Given the description of an element on the screen output the (x, y) to click on. 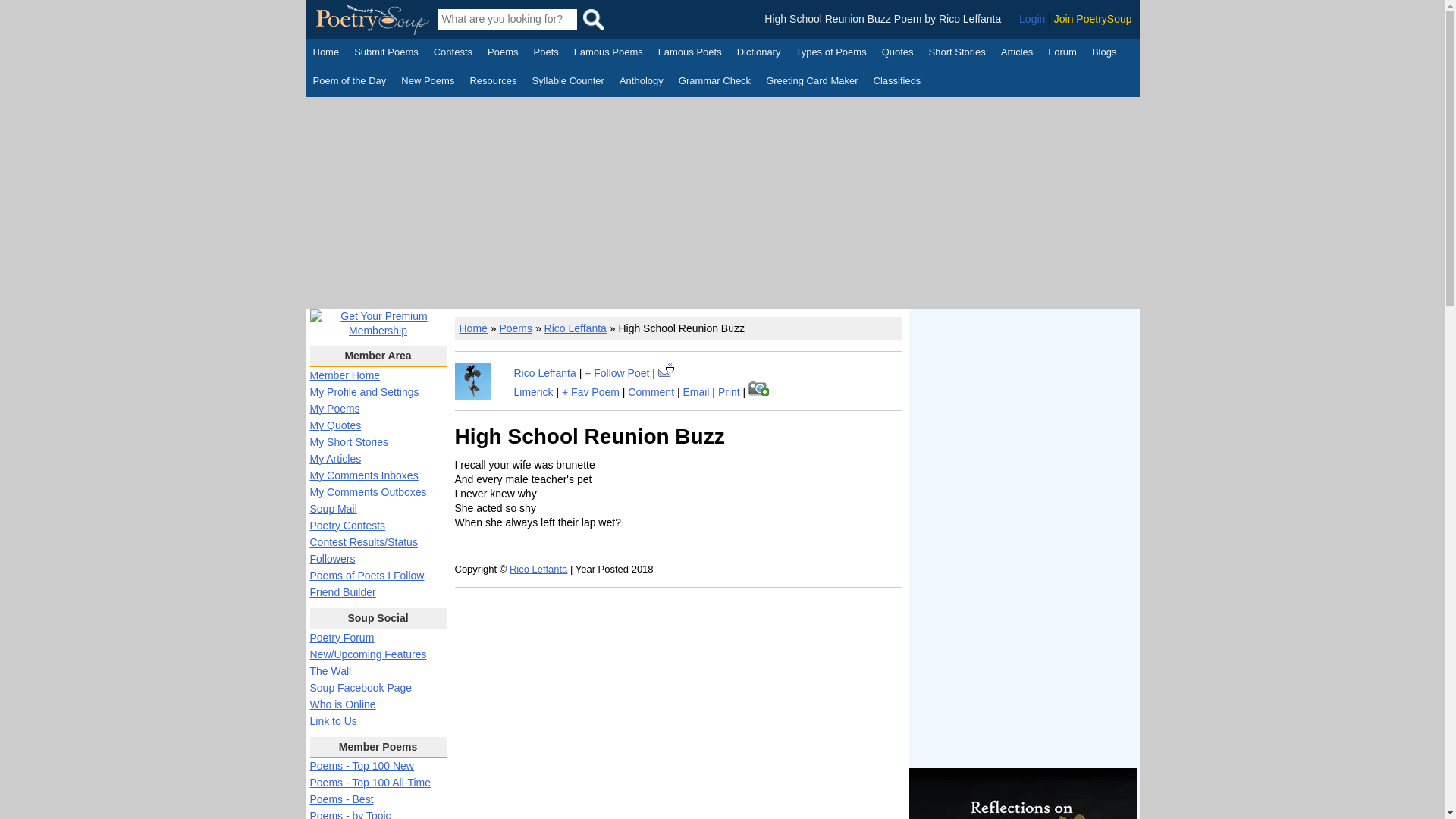
My Poems (333, 408)
Poetry Contests (452, 53)
Poems (502, 53)
Blogs (1104, 53)
Poets (546, 53)
Syllable Counter (568, 82)
My Profile and Settings (363, 391)
Greeting Card Maker (811, 82)
Join PoetrySoup (1093, 19)
Anthology (641, 82)
